Given the description of an element on the screen output the (x, y) to click on. 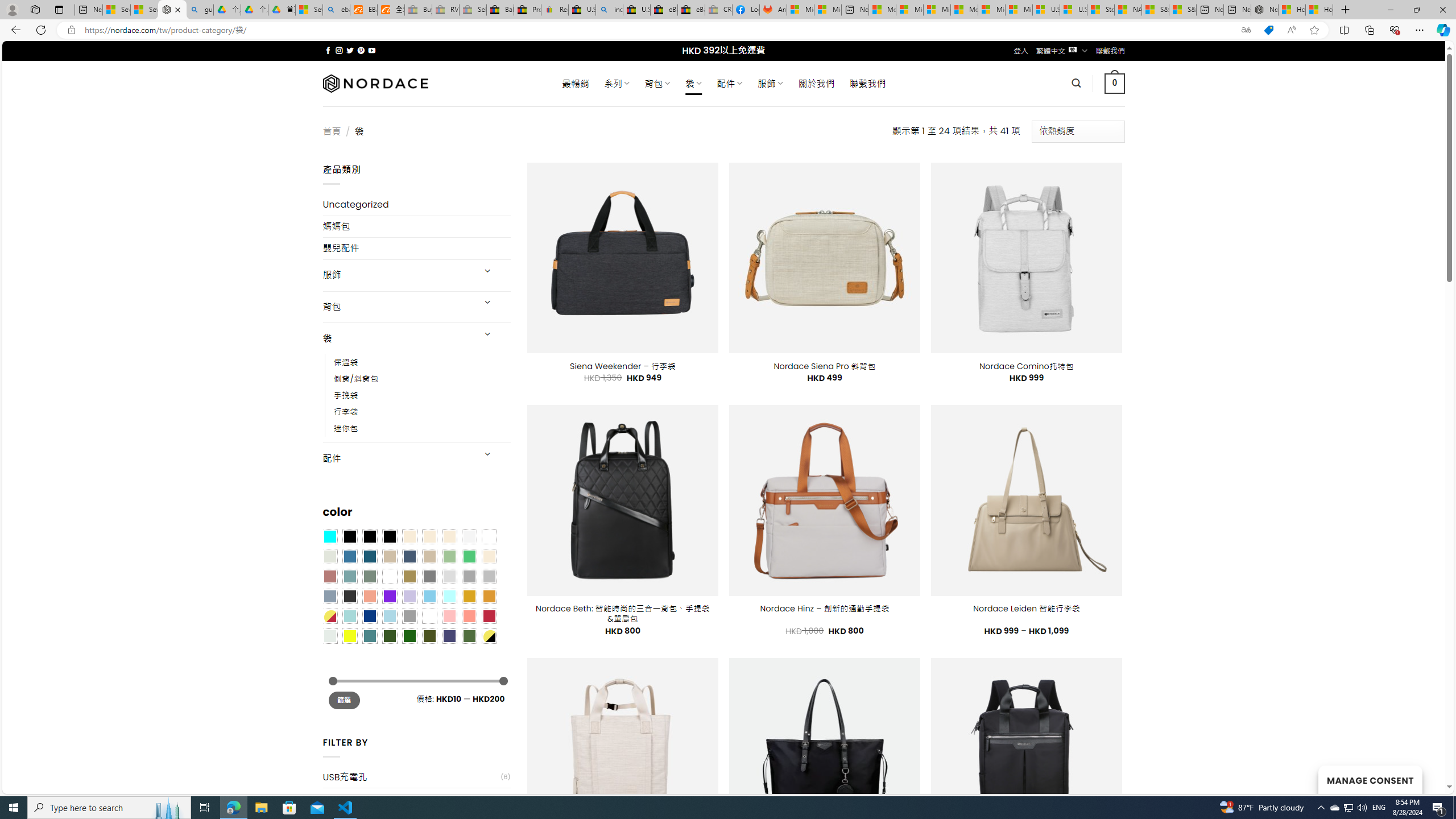
Show translate options (1245, 29)
